Given the description of an element on the screen output the (x, y) to click on. 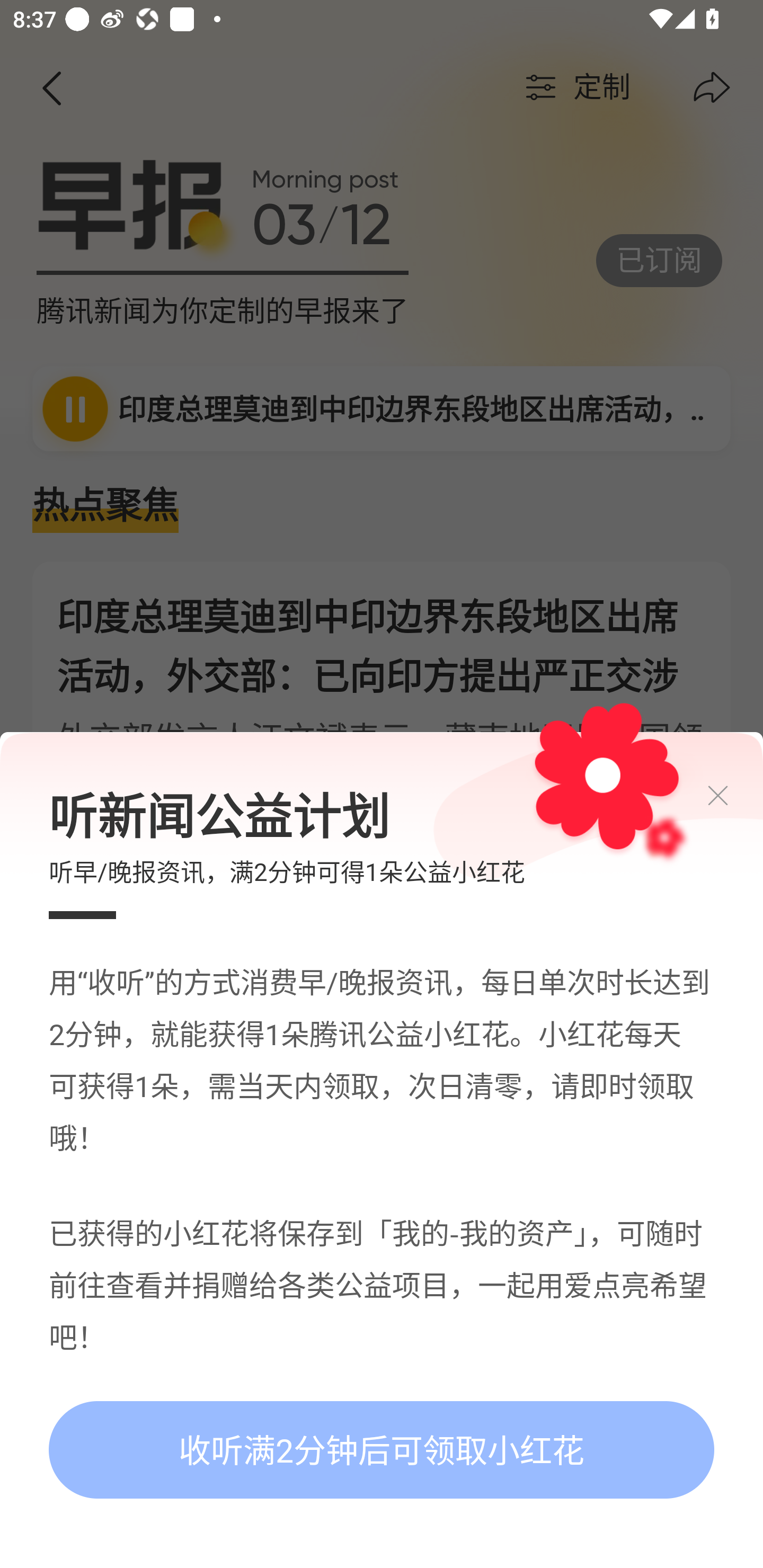
 (733, 795)
收听满2分钟后可领取小红花 (381, 1450)
